Given the description of an element on the screen output the (x, y) to click on. 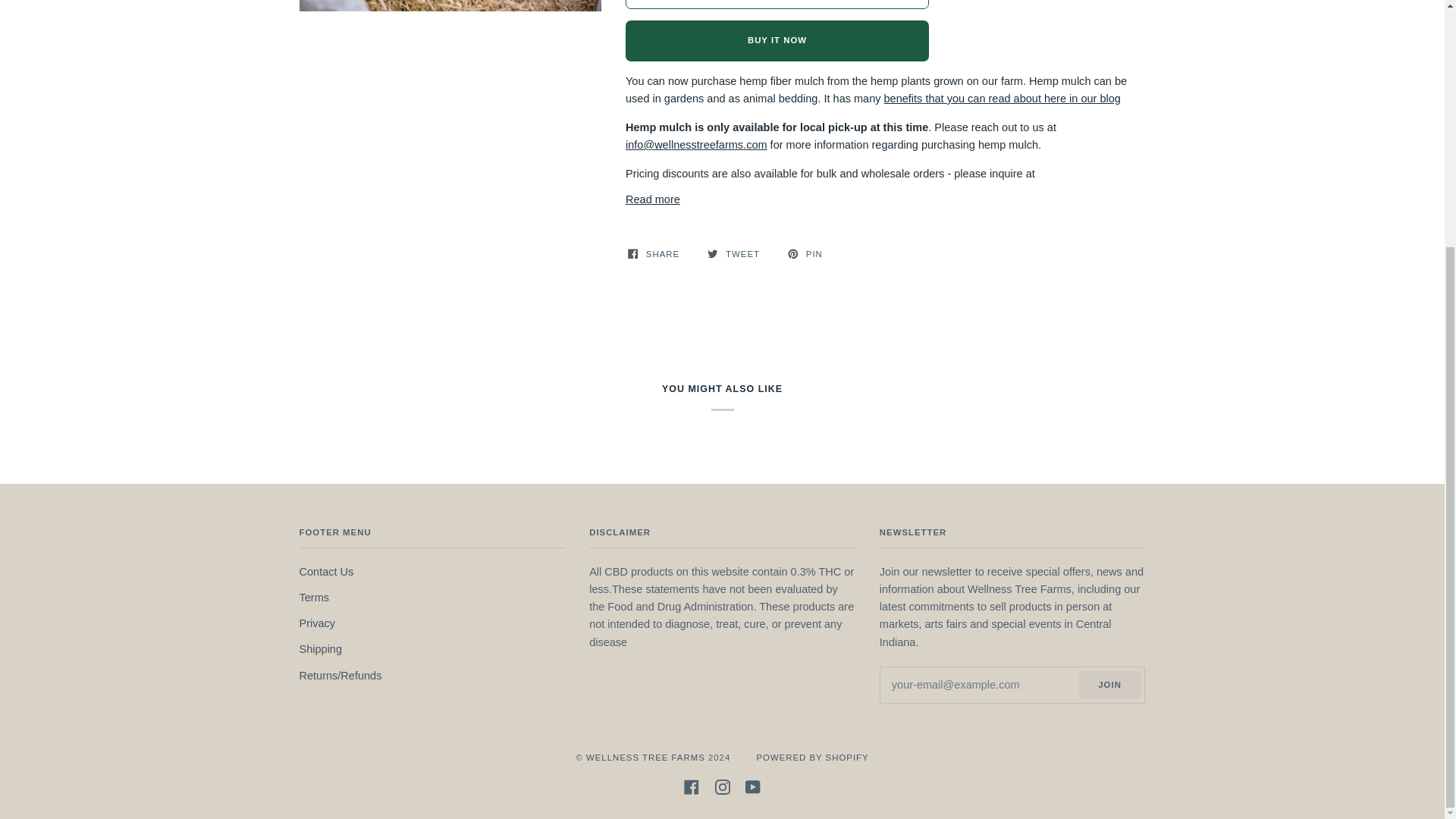
YouTube (752, 786)
Facebook (691, 786)
Instagram (721, 786)
